Given the description of an element on the screen output the (x, y) to click on. 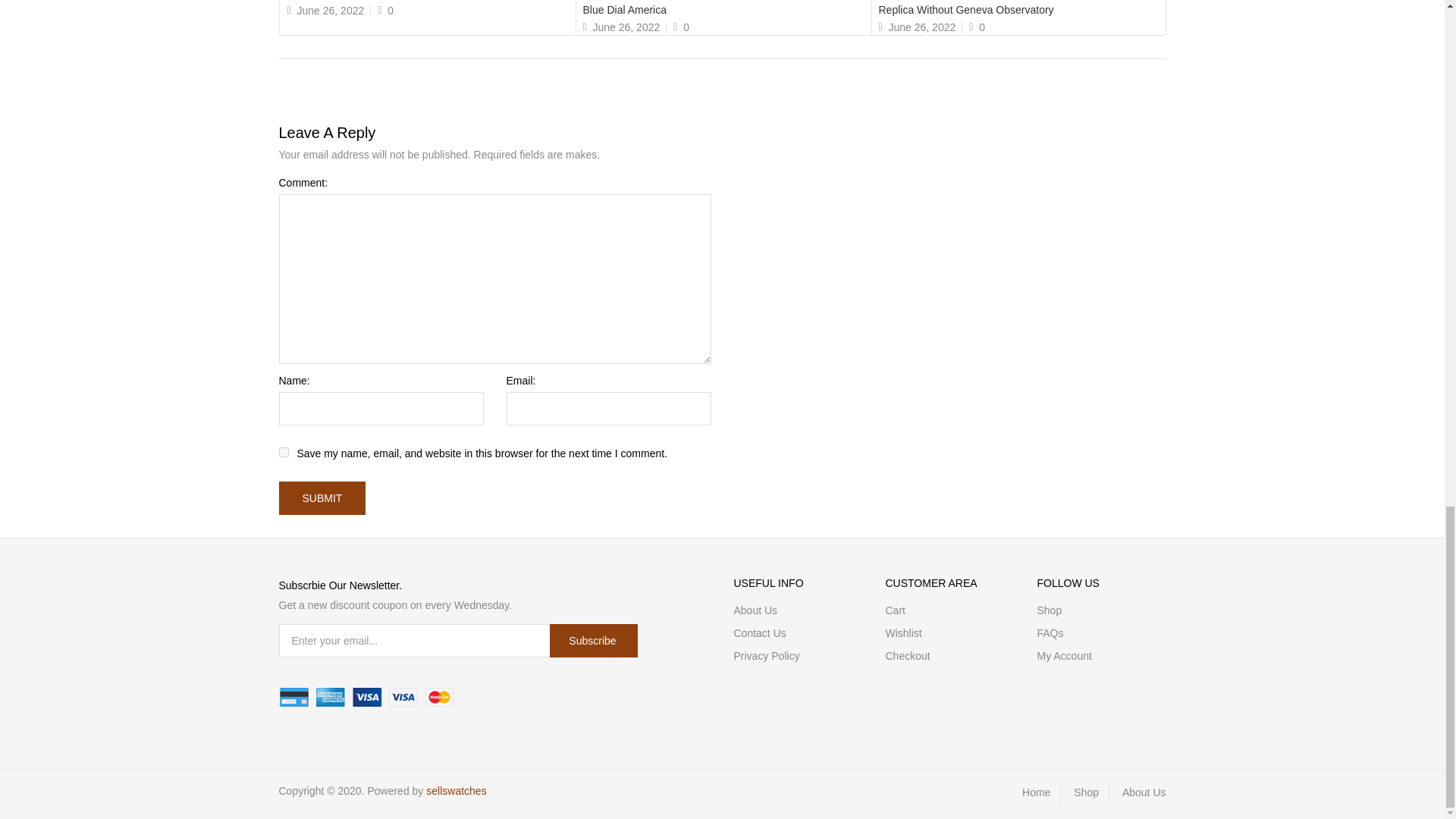
payments (366, 696)
yes (283, 452)
subscribe (593, 640)
submit (322, 498)
